Given the description of an element on the screen output the (x, y) to click on. 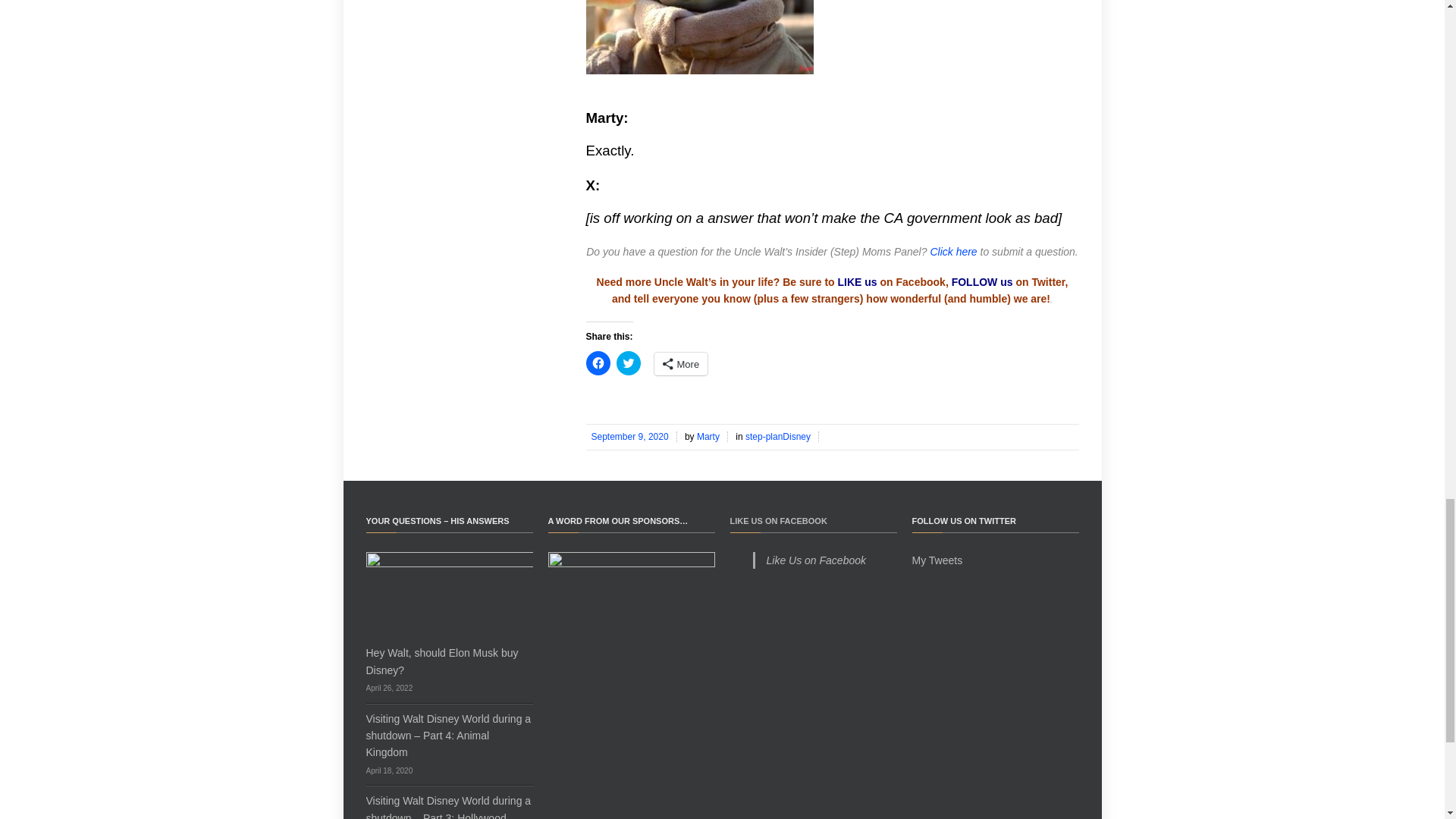
Click to share on Facebook (597, 363)
Hey Walt, should Elon Musk buy Disney? (441, 661)
FOLLOW us (982, 282)
September 9, 2020 (631, 436)
My Tweets (936, 560)
LIKE US ON FACEBOOK (778, 520)
Click to share on Twitter (627, 363)
More (680, 363)
Click here (953, 251)
Like Us on Facebook (815, 560)
